Given the description of an element on the screen output the (x, y) to click on. 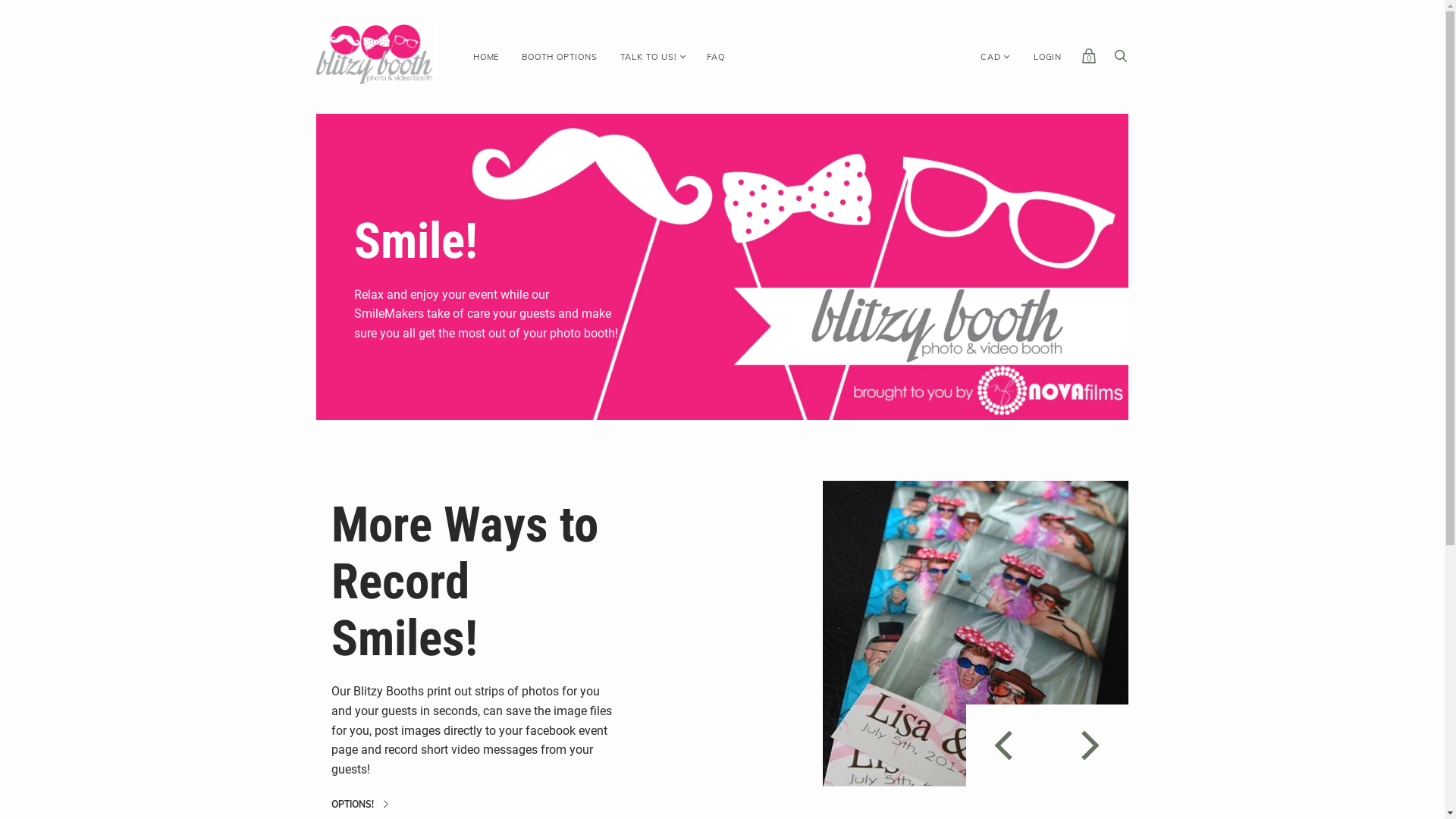
OPTIONS! Element type: text (359, 804)
BOOTH OPTIONS Element type: text (559, 56)
0 Element type: text (1088, 59)
HOME Element type: text (485, 56)
TALK TO US! Element type: text (648, 56)
FAQ Element type: text (715, 56)
LOGIN Element type: text (1047, 56)
